Given the description of an element on the screen output the (x, y) to click on. 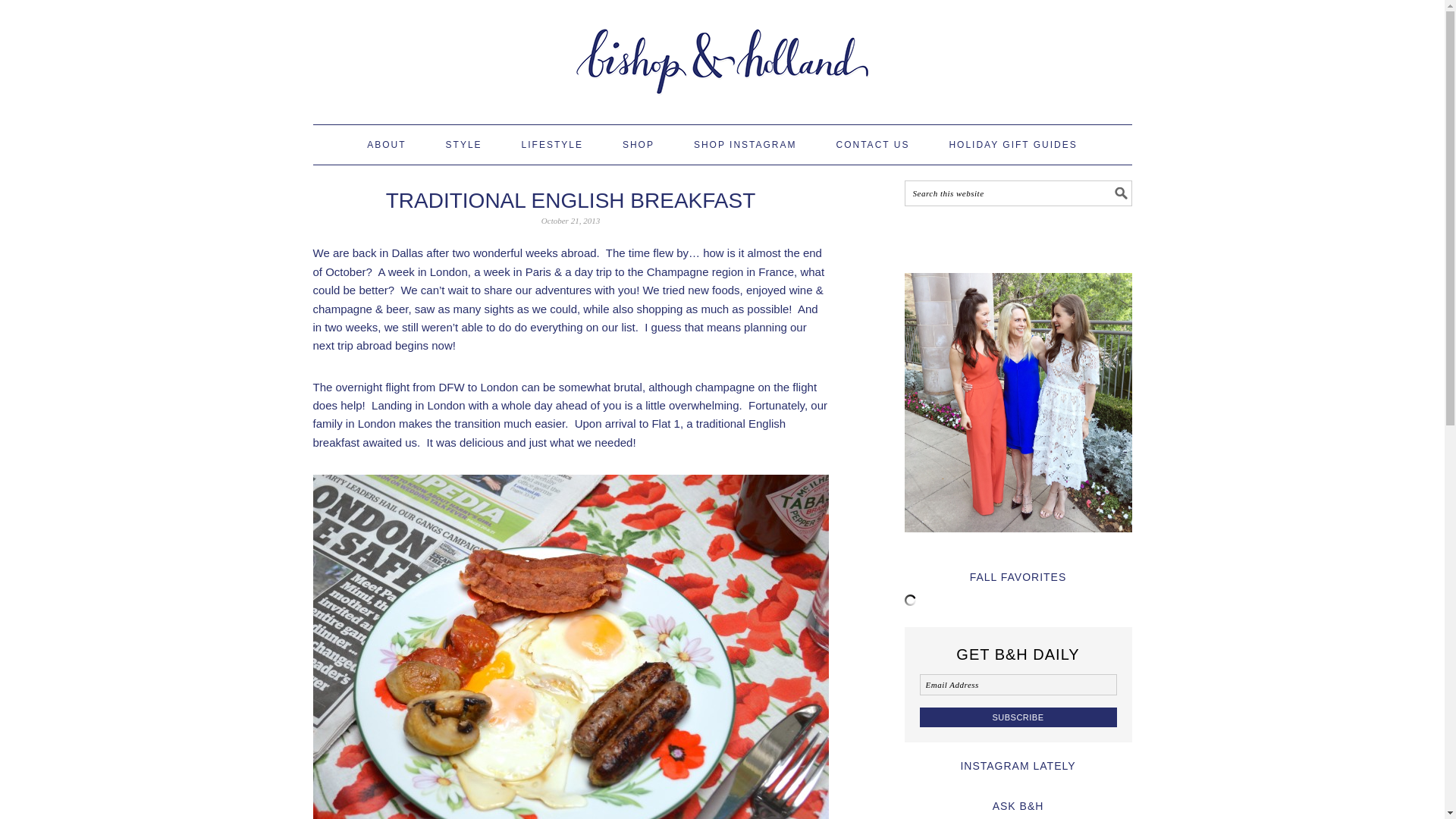
LIFESTYLE (552, 144)
SHOP (638, 144)
HOLIDAY GIFT GUIDES (1013, 144)
ABOUT (386, 144)
SHOP INSTAGRAM (745, 144)
STYLE (463, 144)
CONTACT US (872, 144)
Subscribe (1017, 717)
